Given the description of an element on the screen output the (x, y) to click on. 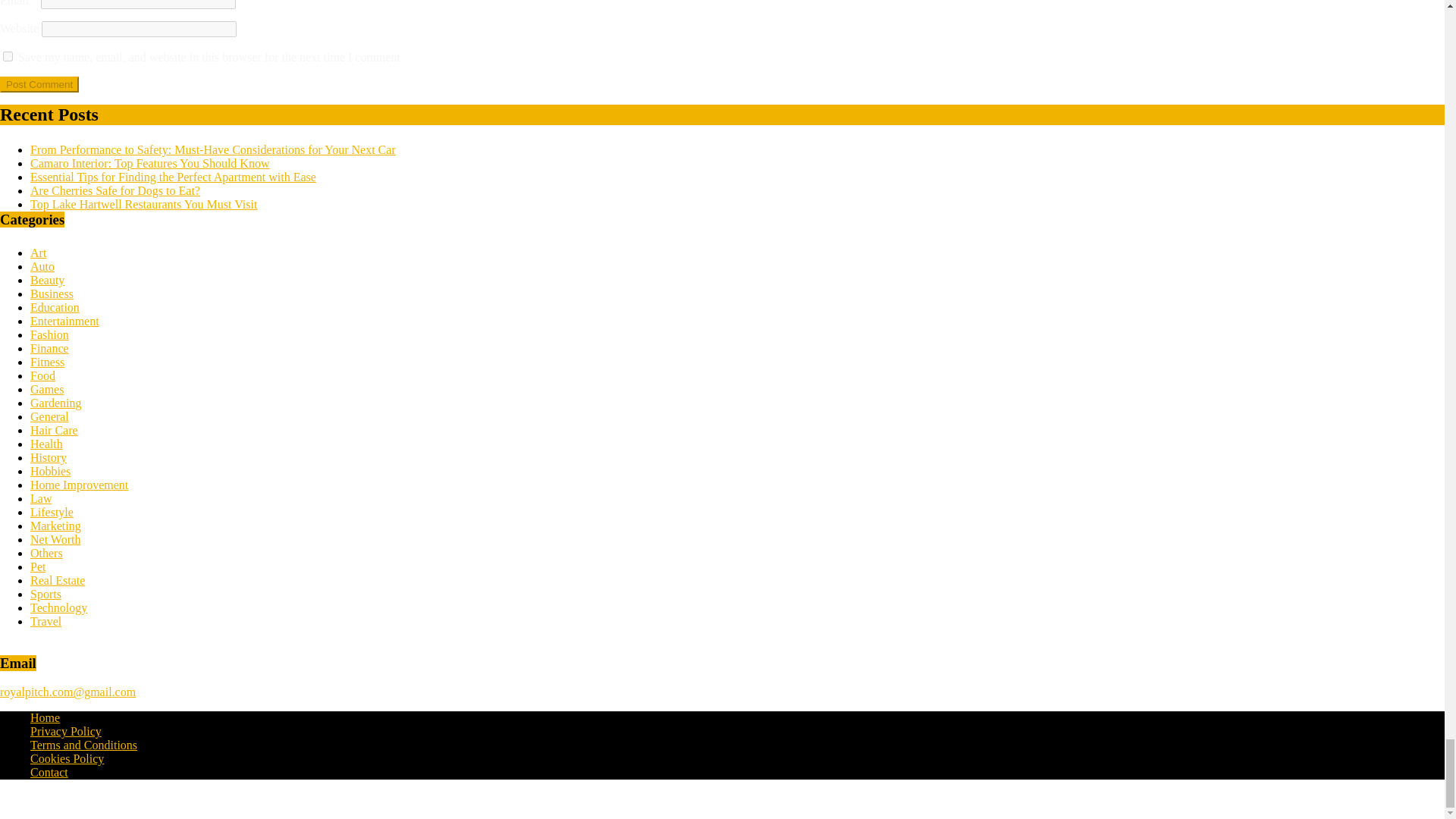
Auto (42, 266)
Business (52, 293)
Camaro Interior: Top Features You Should Know (149, 163)
Essential Tips for Finding the Perfect Apartment with Ease (172, 176)
Post Comment (39, 84)
Are Cherries Safe for Dogs to Eat? (115, 190)
yes (7, 56)
Beauty (47, 279)
Art (38, 252)
